Given the description of an element on the screen output the (x, y) to click on. 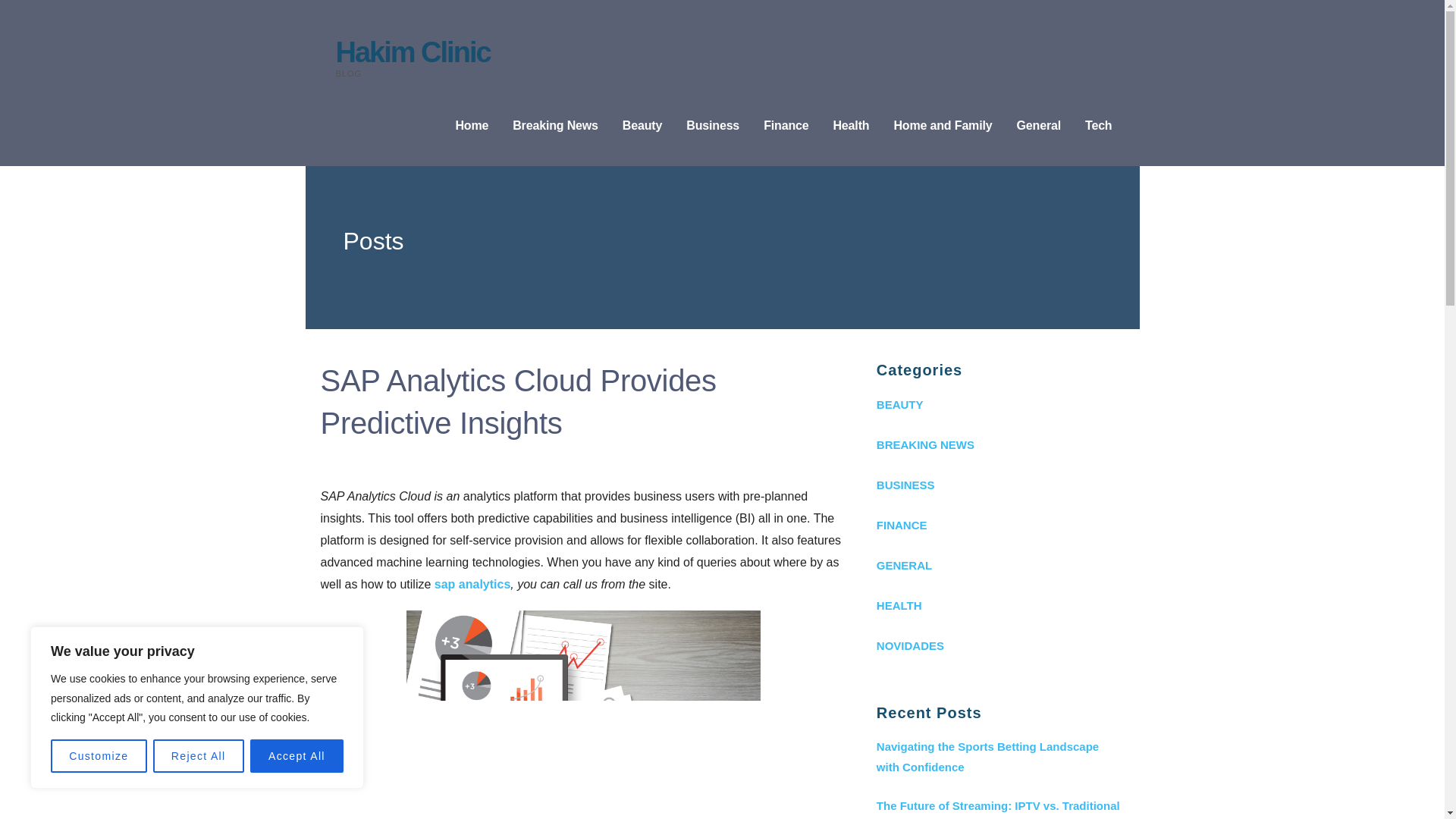
Business (712, 126)
Beauty (642, 126)
Reject All (198, 756)
Home (470, 126)
sap analytics (472, 584)
Customize (98, 756)
GENERAL (1000, 565)
BREAKING NEWS (1000, 445)
Finance (785, 126)
FINANCE (1000, 525)
